Given the description of an element on the screen output the (x, y) to click on. 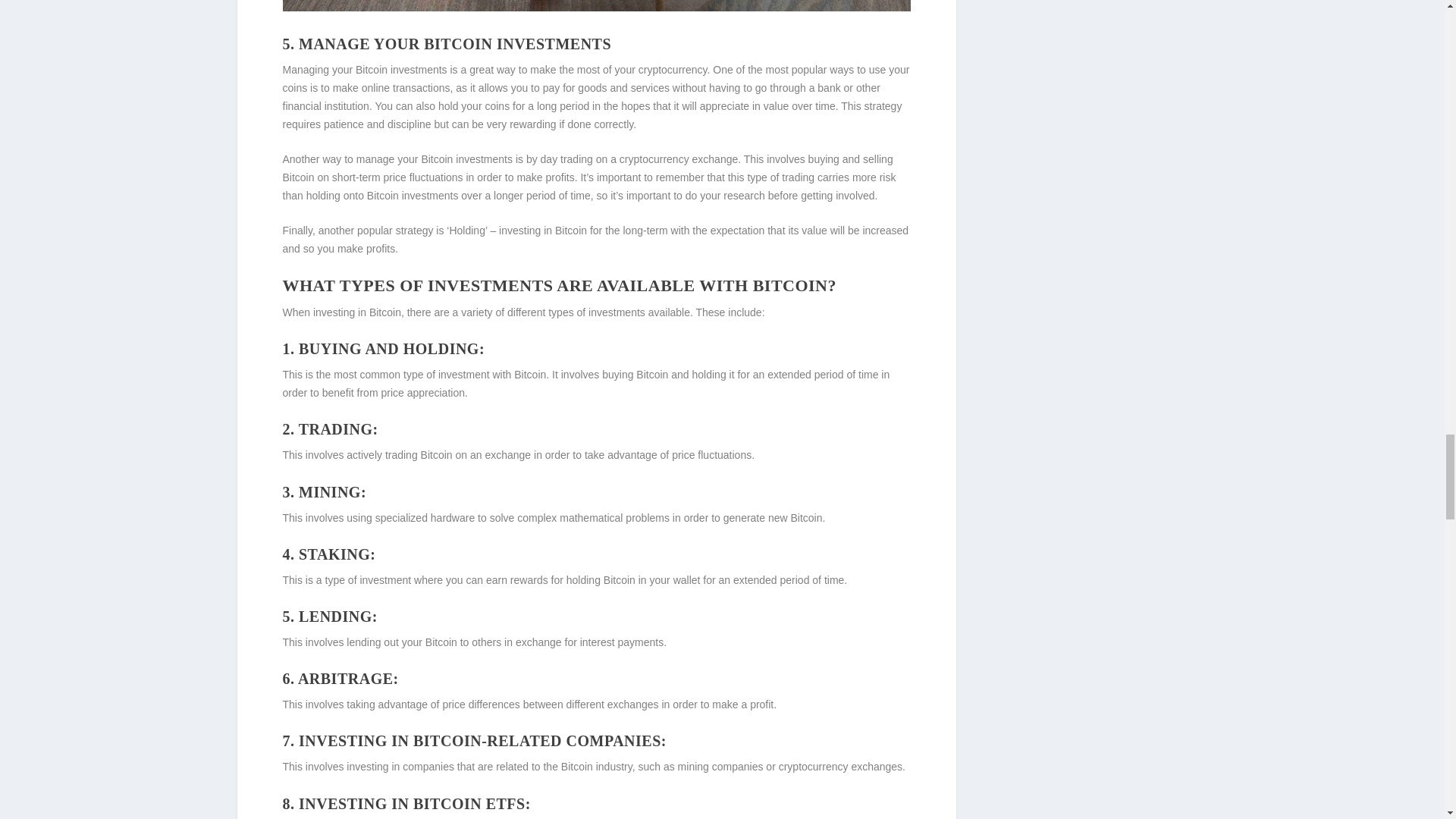
How To Invest In Bitcoin And Make Money 2 (596, 5)
